Given the description of an element on the screen output the (x, y) to click on. 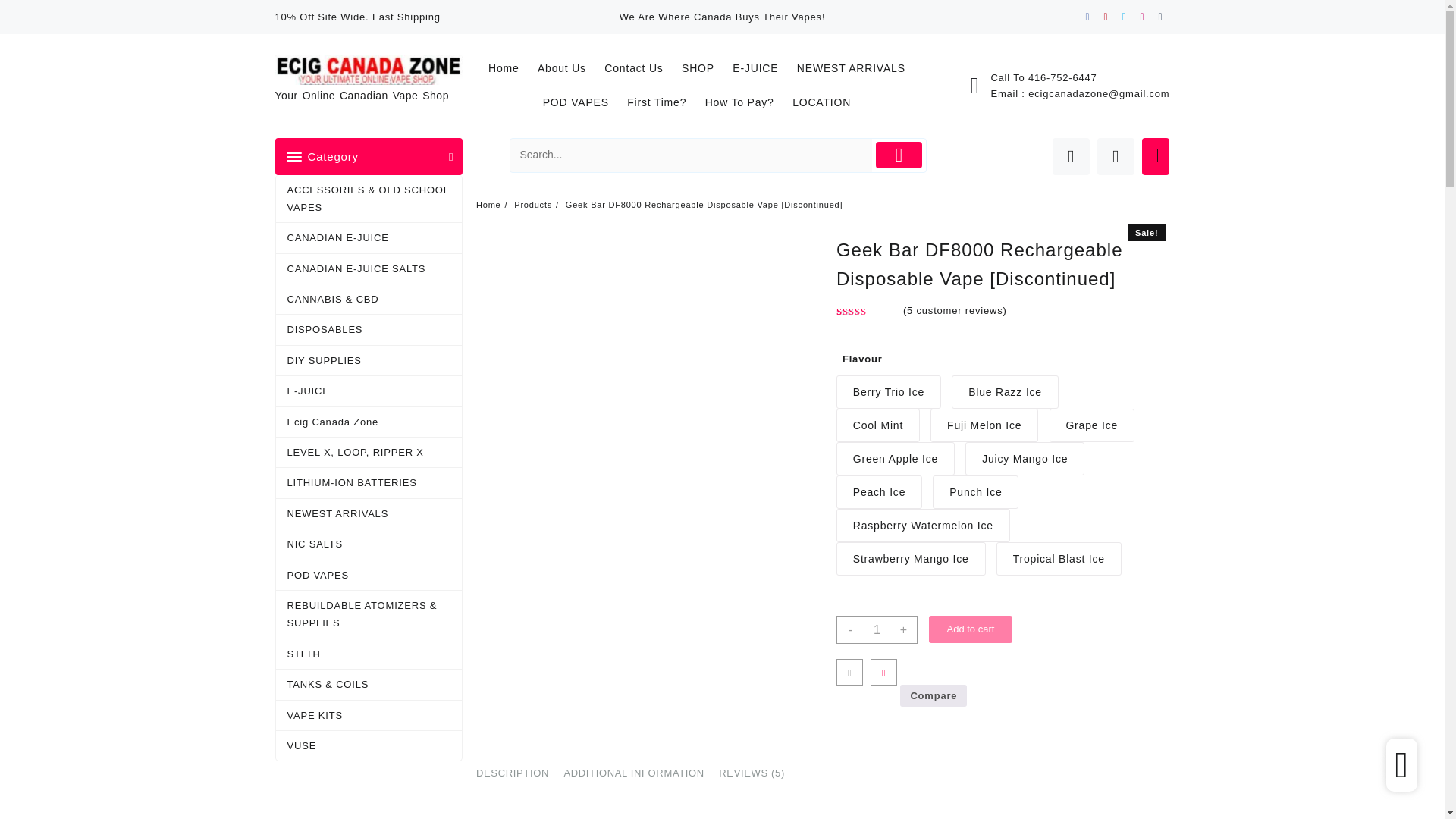
Raspberry Watermelon Ice (922, 525)
1 (876, 629)
Strawberry Mango Ice (910, 558)
Search (691, 155)
Grape Ice (1091, 425)
NEWEST ARRIVALS (858, 68)
LOCATION (829, 102)
Contact Us (641, 68)
Green Apple Ice (895, 458)
Home (510, 68)
